Given the description of an element on the screen output the (x, y) to click on. 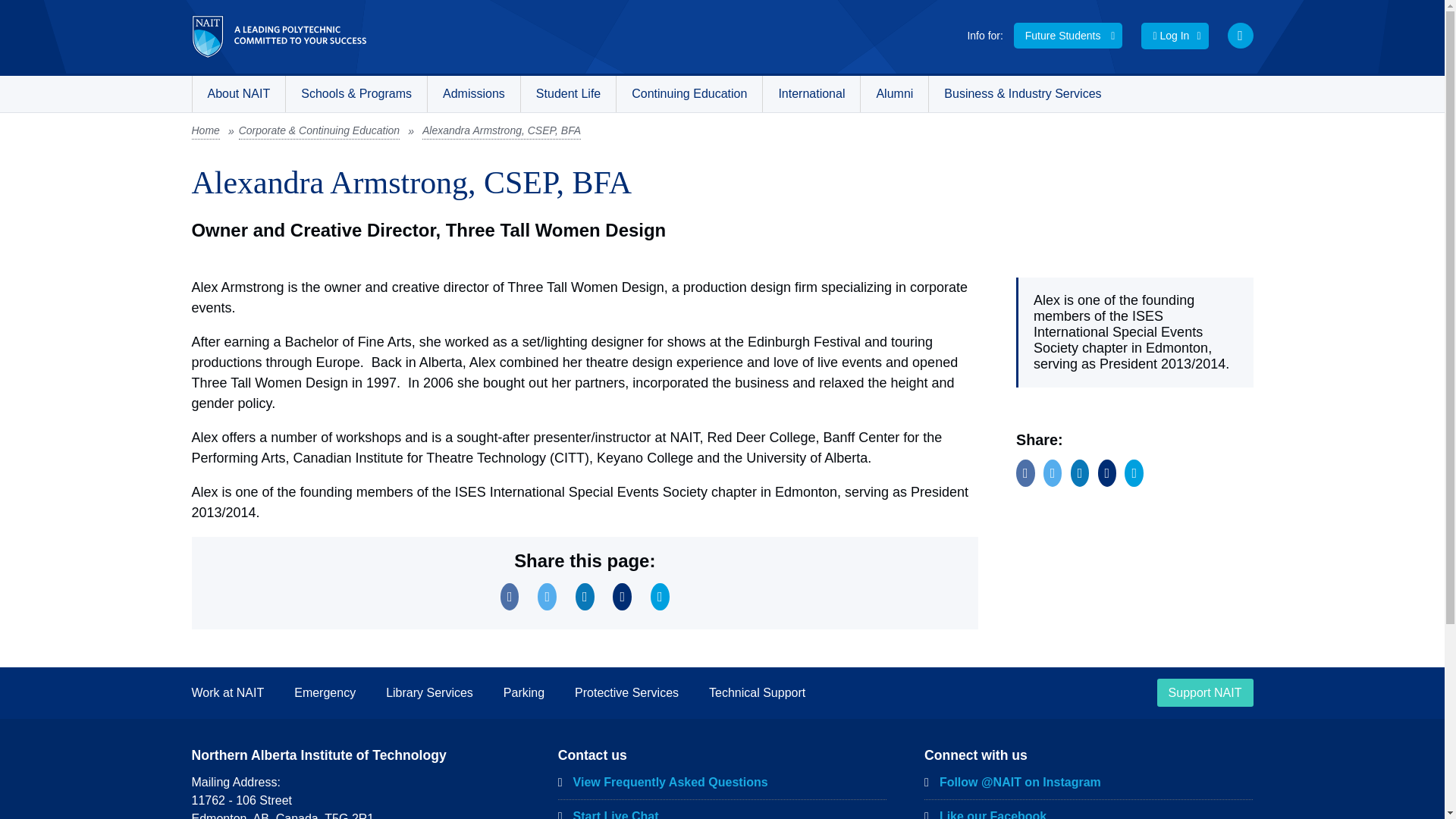
NAIT - A Leading Polytechnic Committed to Student Success (277, 36)
About NAIT (238, 94)
Future Students (1067, 35)
Log In (1174, 35)
